Given the description of an element on the screen output the (x, y) to click on. 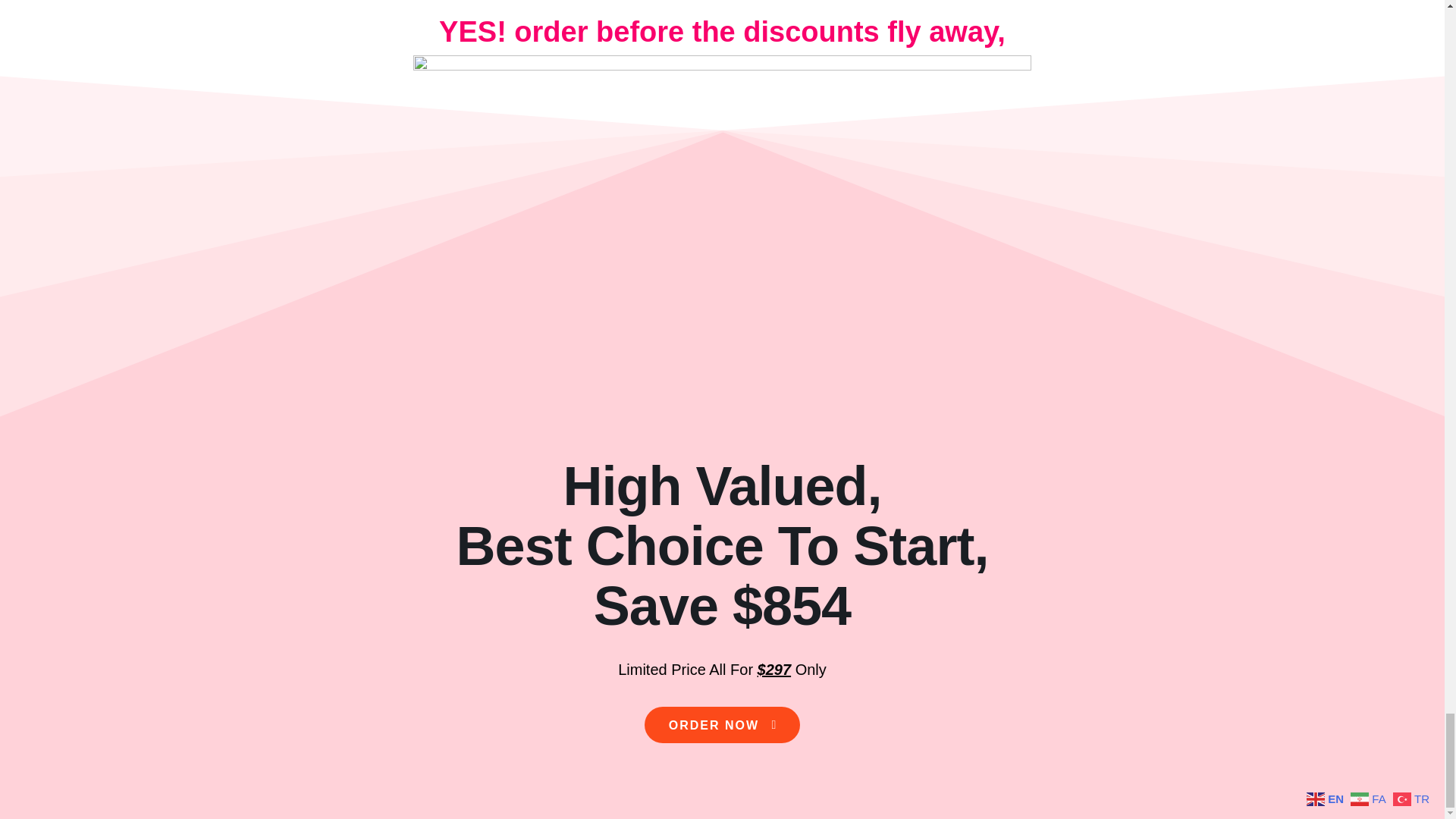
ORDER NOW (722, 724)
